Given the description of an element on the screen output the (x, y) to click on. 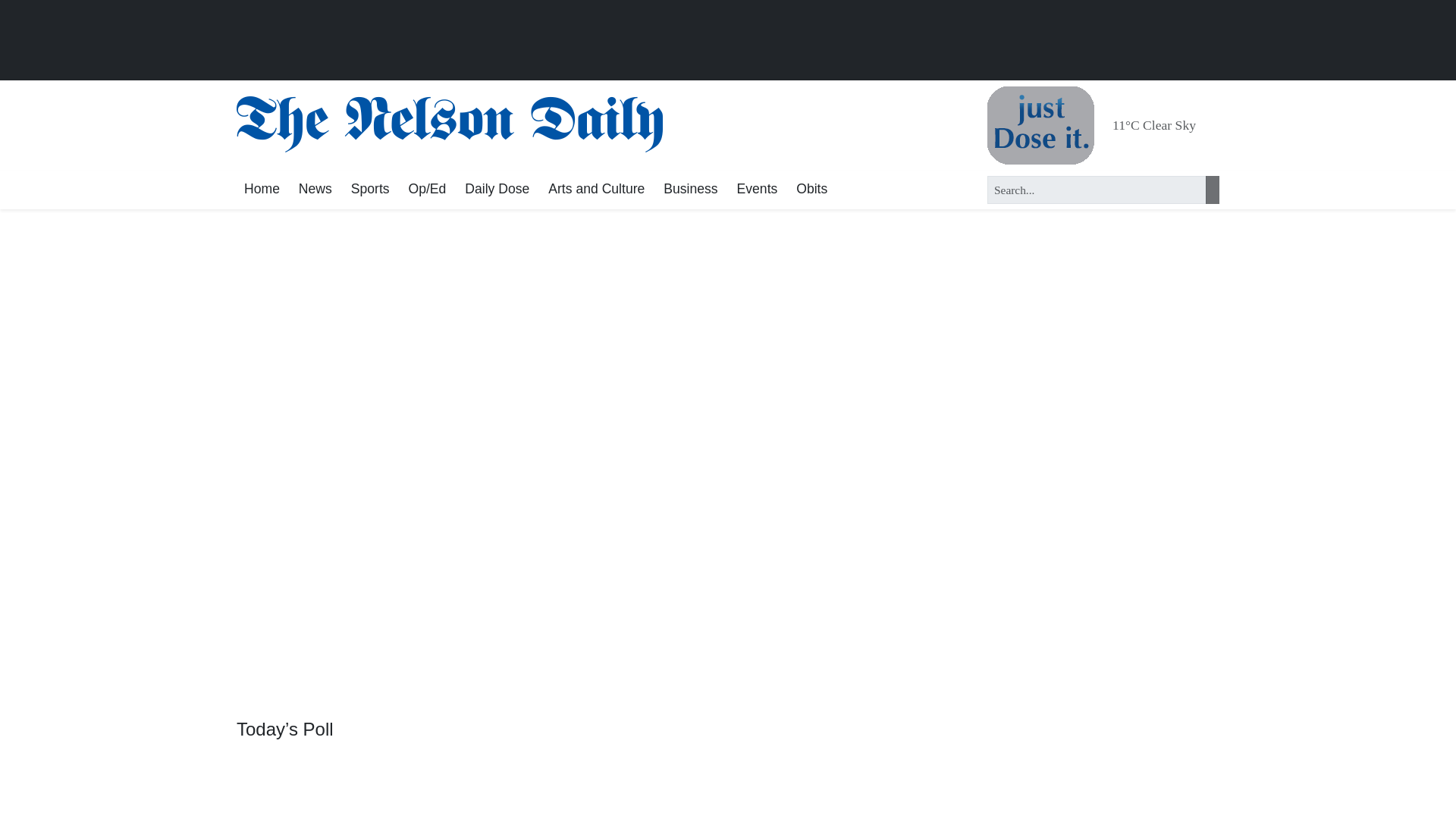
Business (690, 189)
Events (757, 189)
Arts and Culture (596, 189)
Home (260, 189)
News (315, 189)
Obits (811, 189)
Daily Dose (497, 189)
Sports (370, 189)
